Given the description of an element on the screen output the (x, y) to click on. 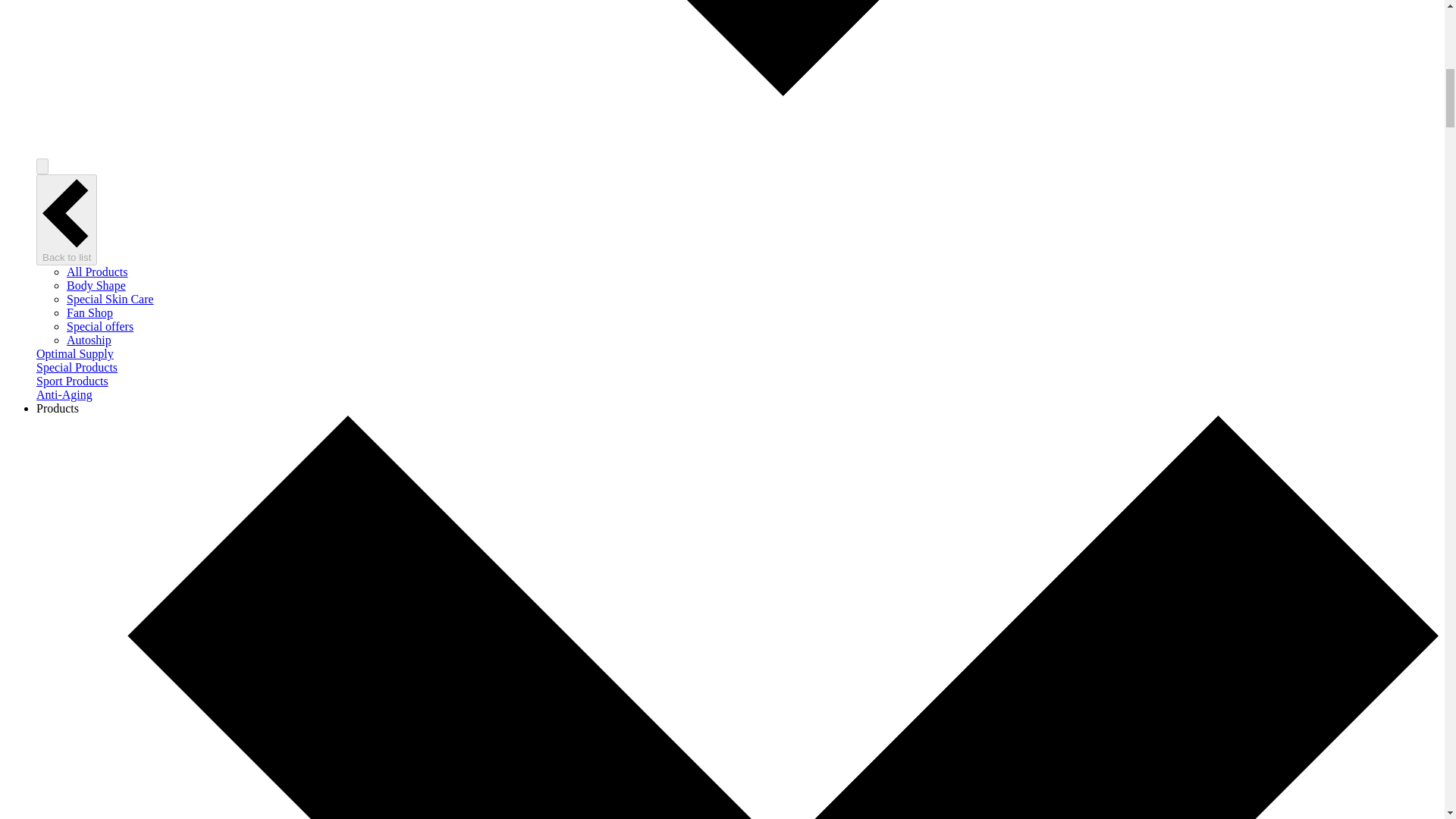
Anti-Aging (64, 394)
Back to list (66, 220)
Special Skin Care (110, 298)
Special offers (99, 326)
Optimal Supply (74, 353)
Body Shape (95, 285)
All Products (97, 271)
Autoship (89, 339)
Sport Products (71, 380)
Special Products (76, 367)
Fan Shop (89, 312)
